Given the description of an element on the screen output the (x, y) to click on. 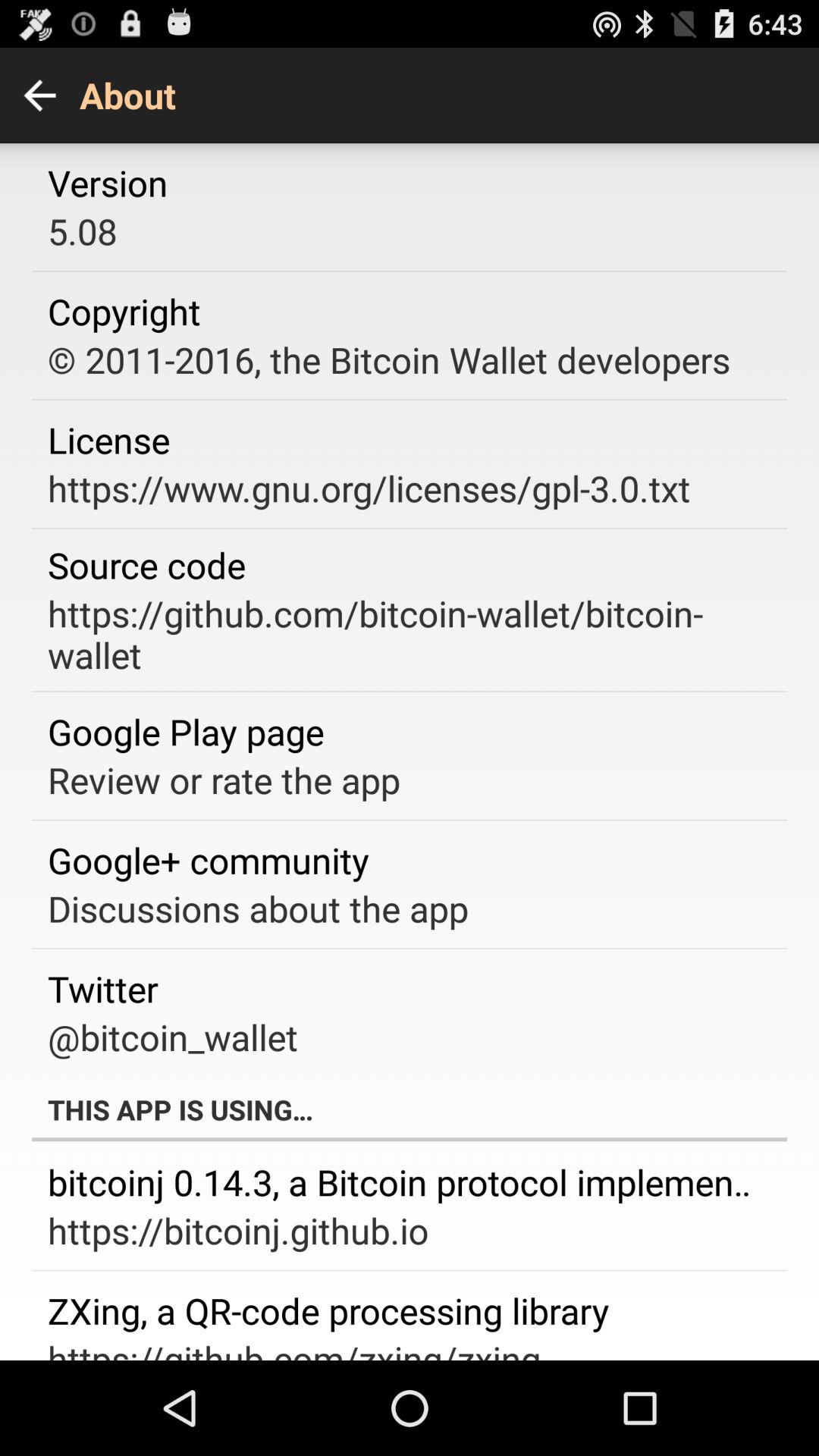
scroll until the 2011 2016 the icon (388, 359)
